Given the description of an element on the screen output the (x, y) to click on. 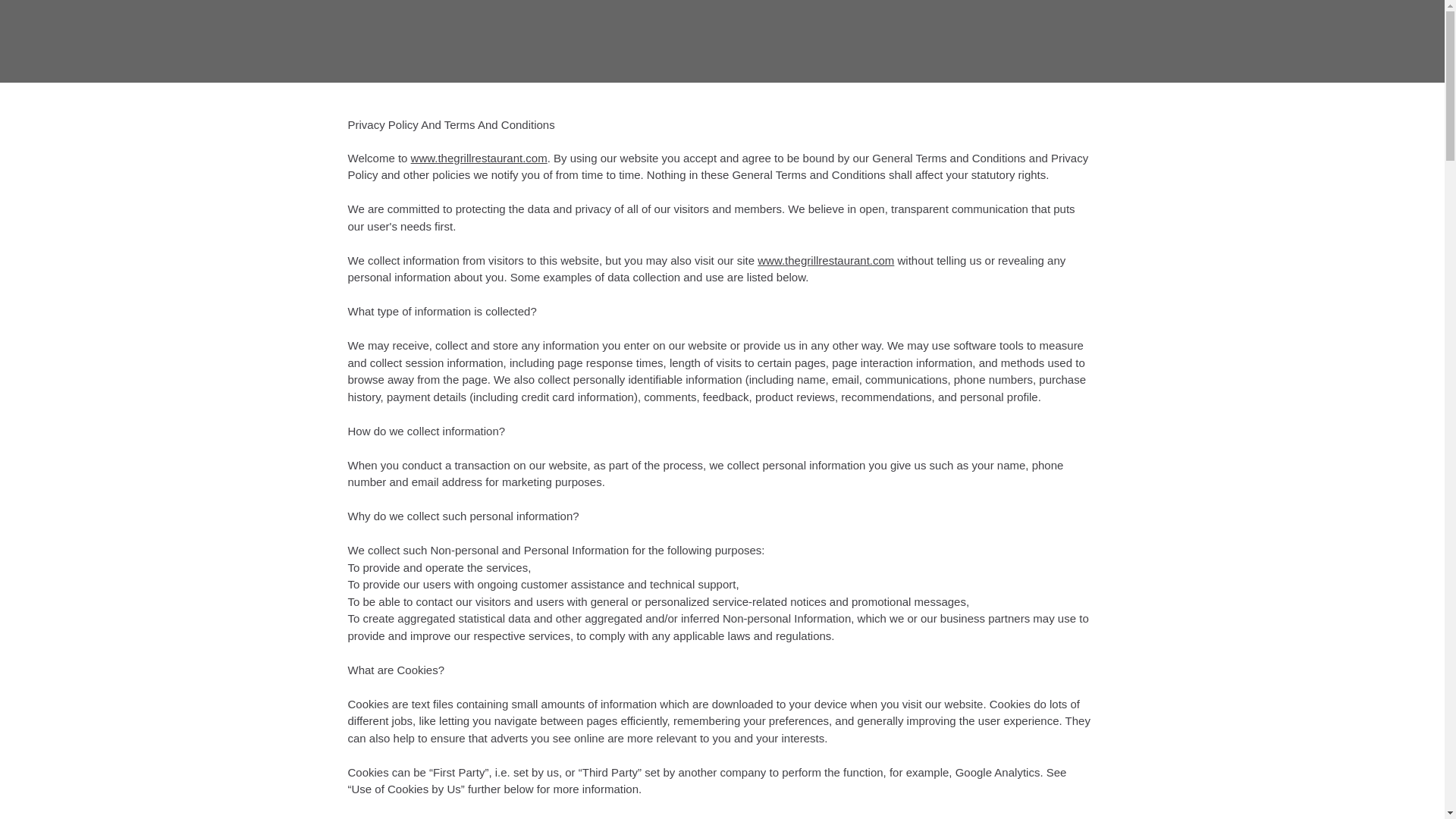
www.thegrillrestaurant.com (478, 157)
www.thegrillrestaurant.com (825, 259)
